Given the description of an element on the screen output the (x, y) to click on. 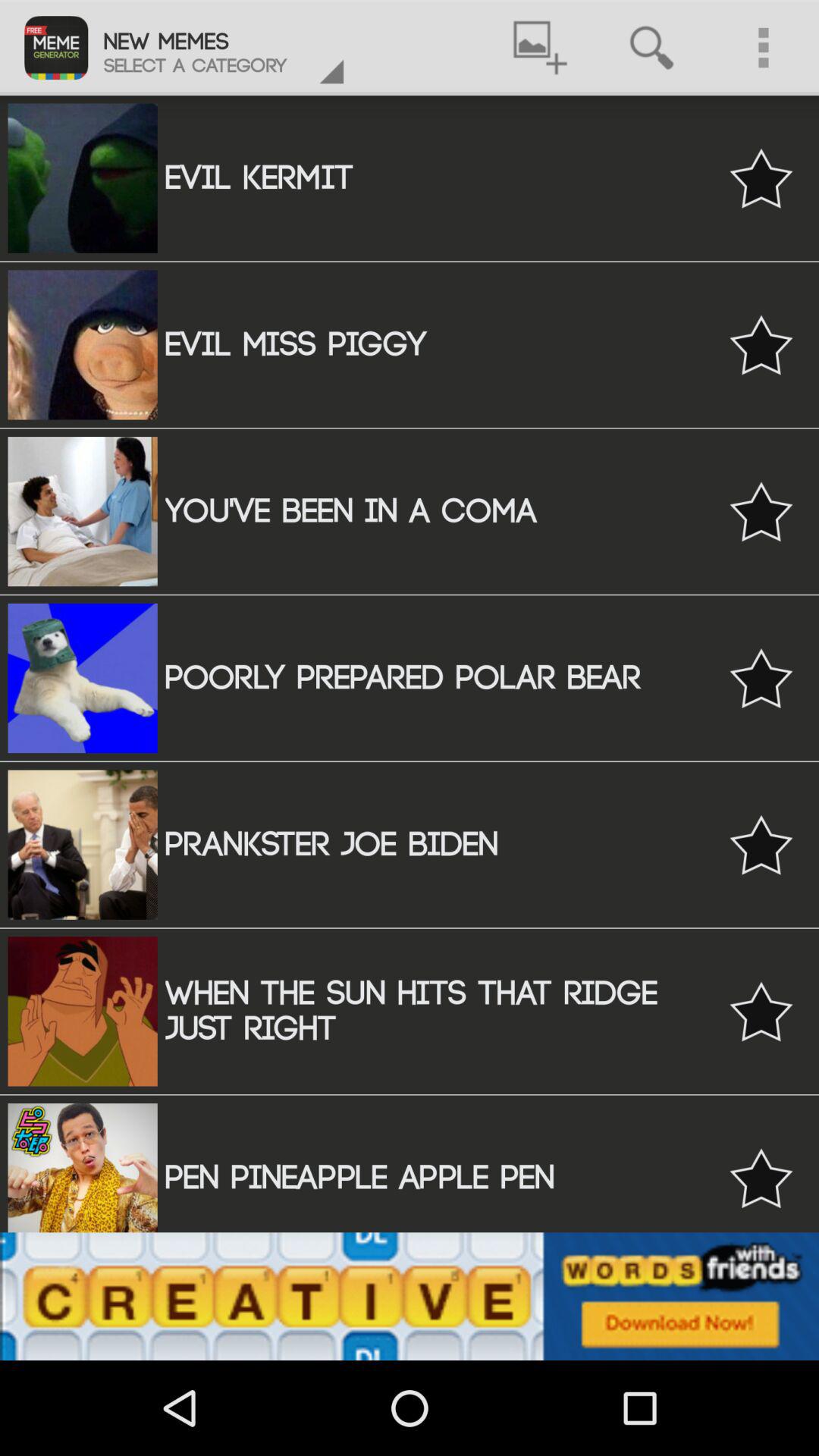
select favorite button (761, 1177)
